Given the description of an element on the screen output the (x, y) to click on. 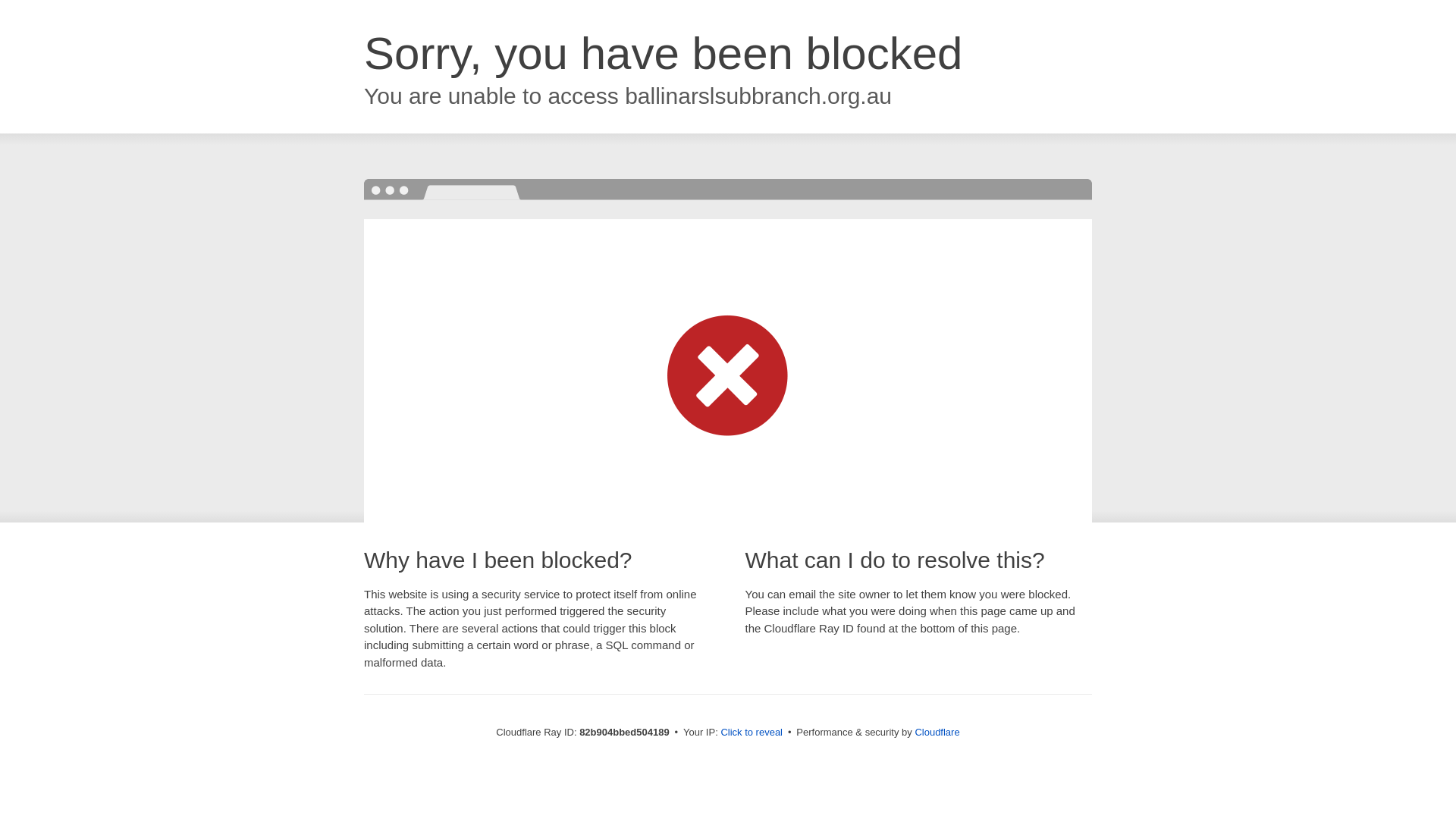
Click to reveal Element type: text (751, 732)
Cloudflare Element type: text (936, 731)
